Given the description of an element on the screen output the (x, y) to click on. 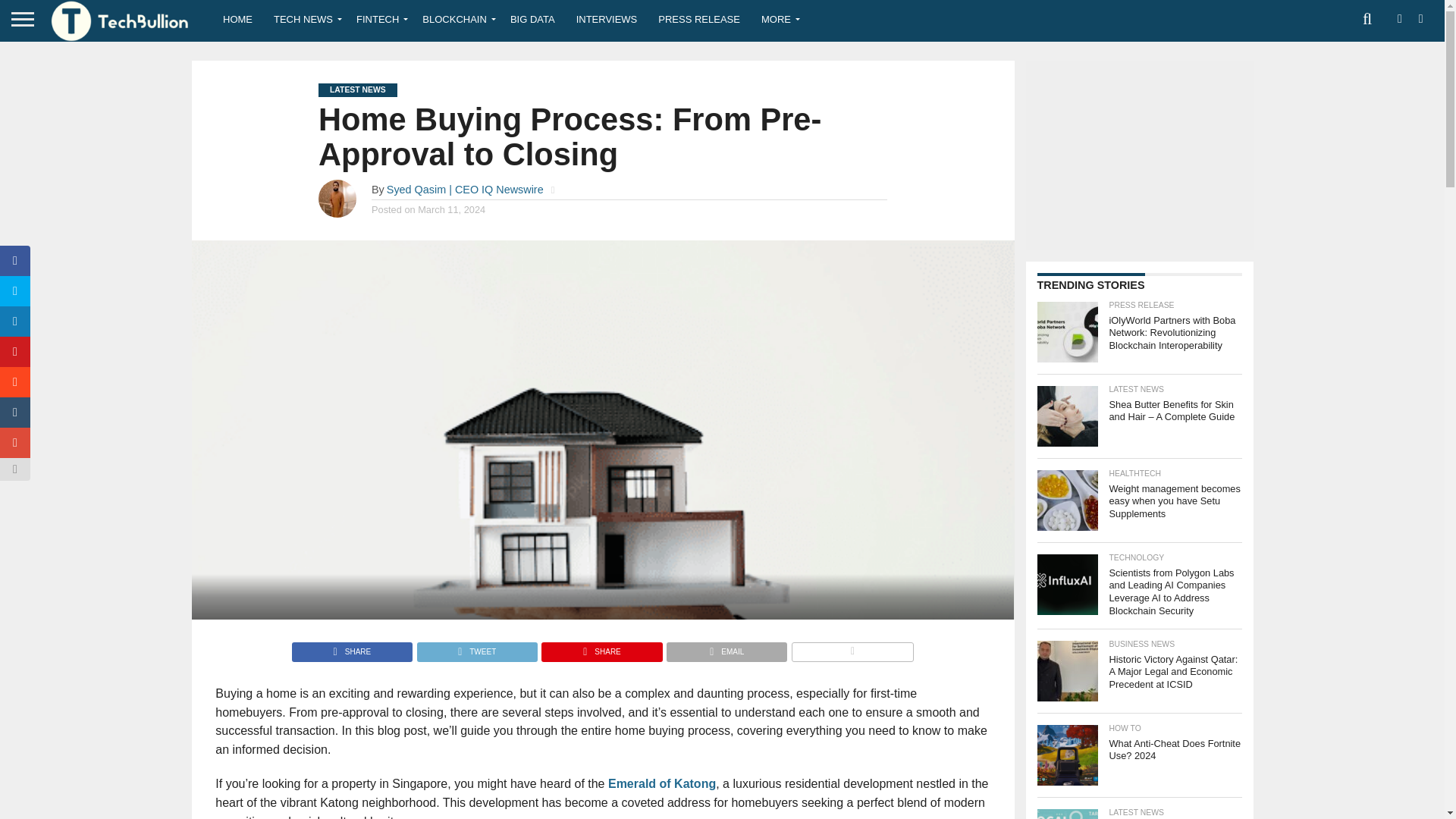
Share on Facebook (352, 647)
Pin This Post (601, 647)
Tweet This Post (476, 647)
